Given the description of an element on the screen output the (x, y) to click on. 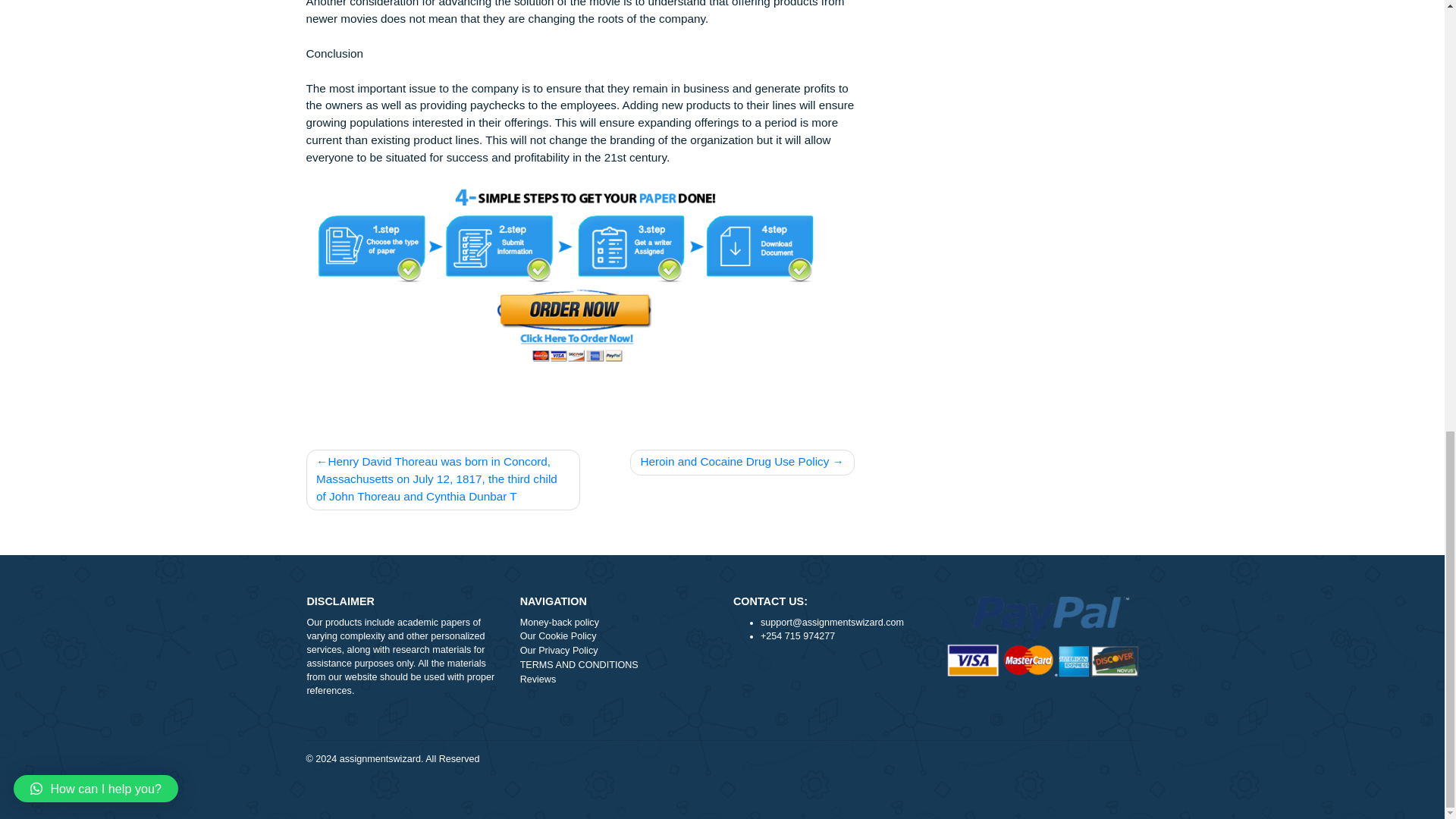
Money-back policy (685, 793)
Our Cookie Policy (685, 809)
Heroin and Cocaine Drug Use Policy (824, 615)
